Given the description of an element on the screen output the (x, y) to click on. 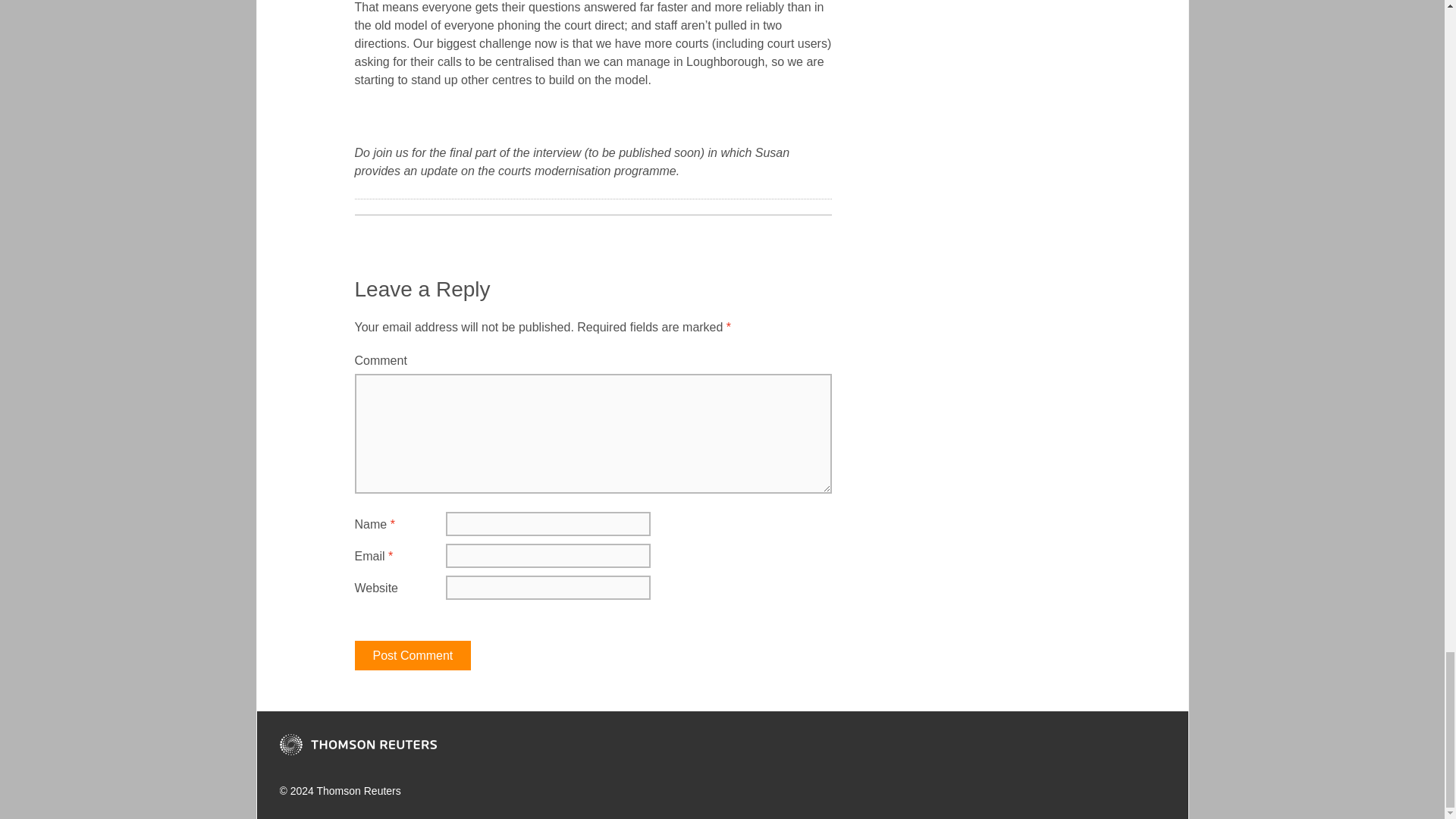
Post Comment (413, 655)
Thomson Reuters (357, 744)
Post Comment (413, 655)
